Given the description of an element on the screen output the (x, y) to click on. 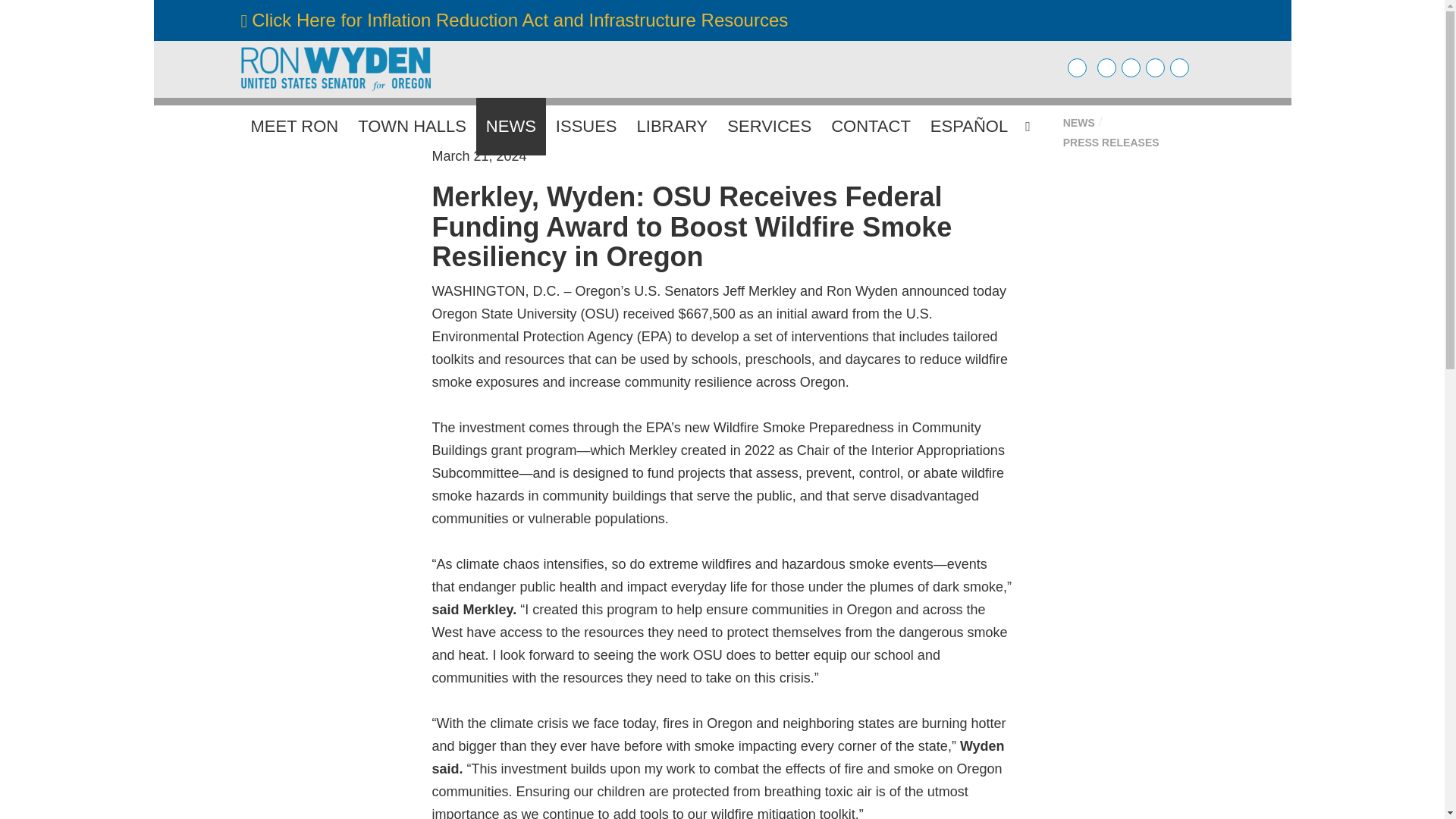
NEWS (1078, 122)
MEET RON (295, 125)
NEWS (511, 125)
TOWN HALLS (411, 125)
SERVICES (769, 125)
CONTACT (870, 125)
LIBRARY (672, 125)
ISSUES (586, 125)
